Given the description of an element on the screen output the (x, y) to click on. 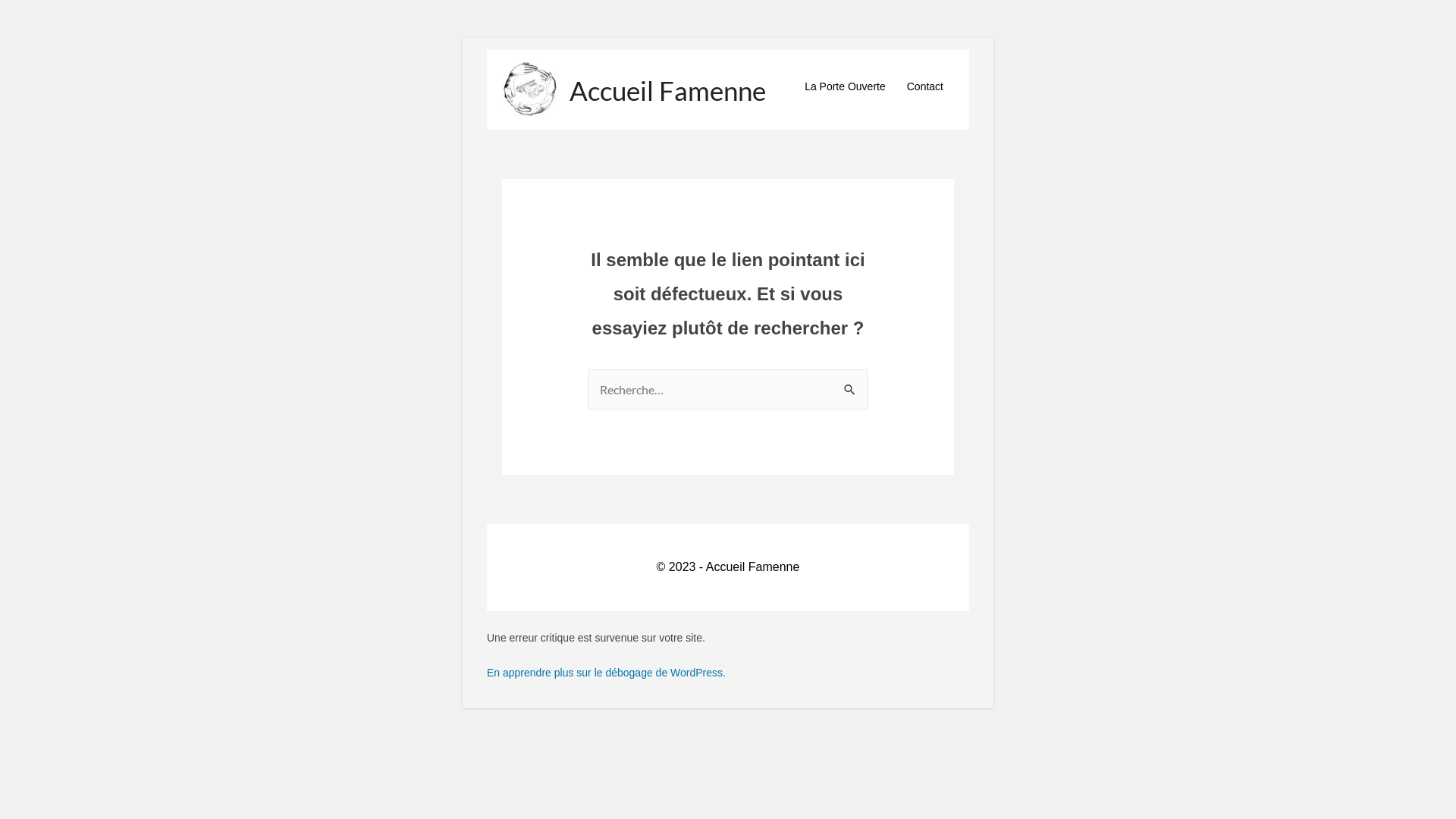
Rechercher Element type: text (851, 390)
Accueil Famenne Element type: text (667, 90)
La Porte Ouverte Element type: text (844, 86)
Contact Element type: text (924, 86)
